Given the description of an element on the screen output the (x, y) to click on. 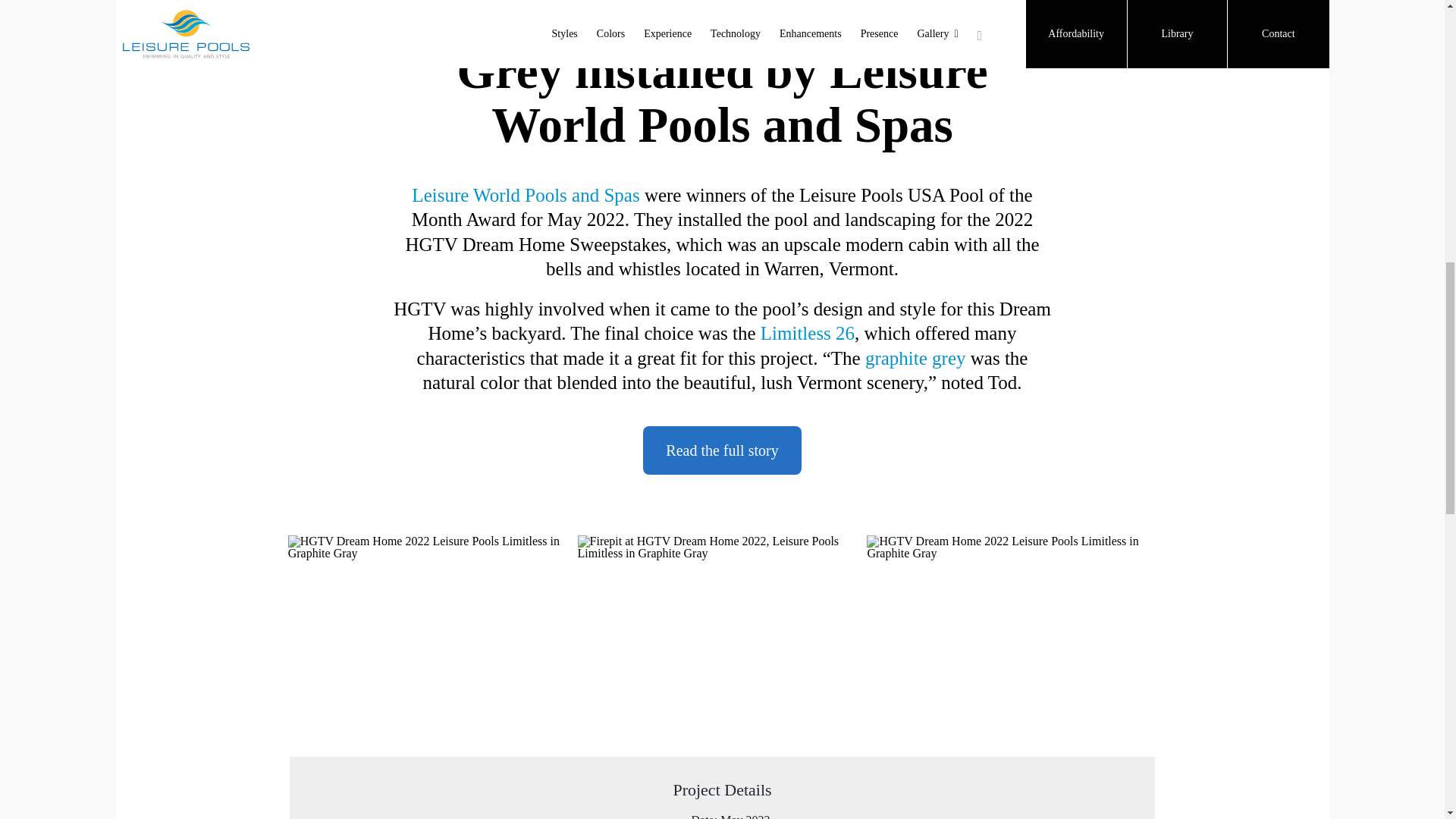
Read the full story (721, 450)
graphite grey (915, 358)
Limitless 26 (807, 332)
Leisure World Pools and Spas (525, 195)
